Given the description of an element on the screen output the (x, y) to click on. 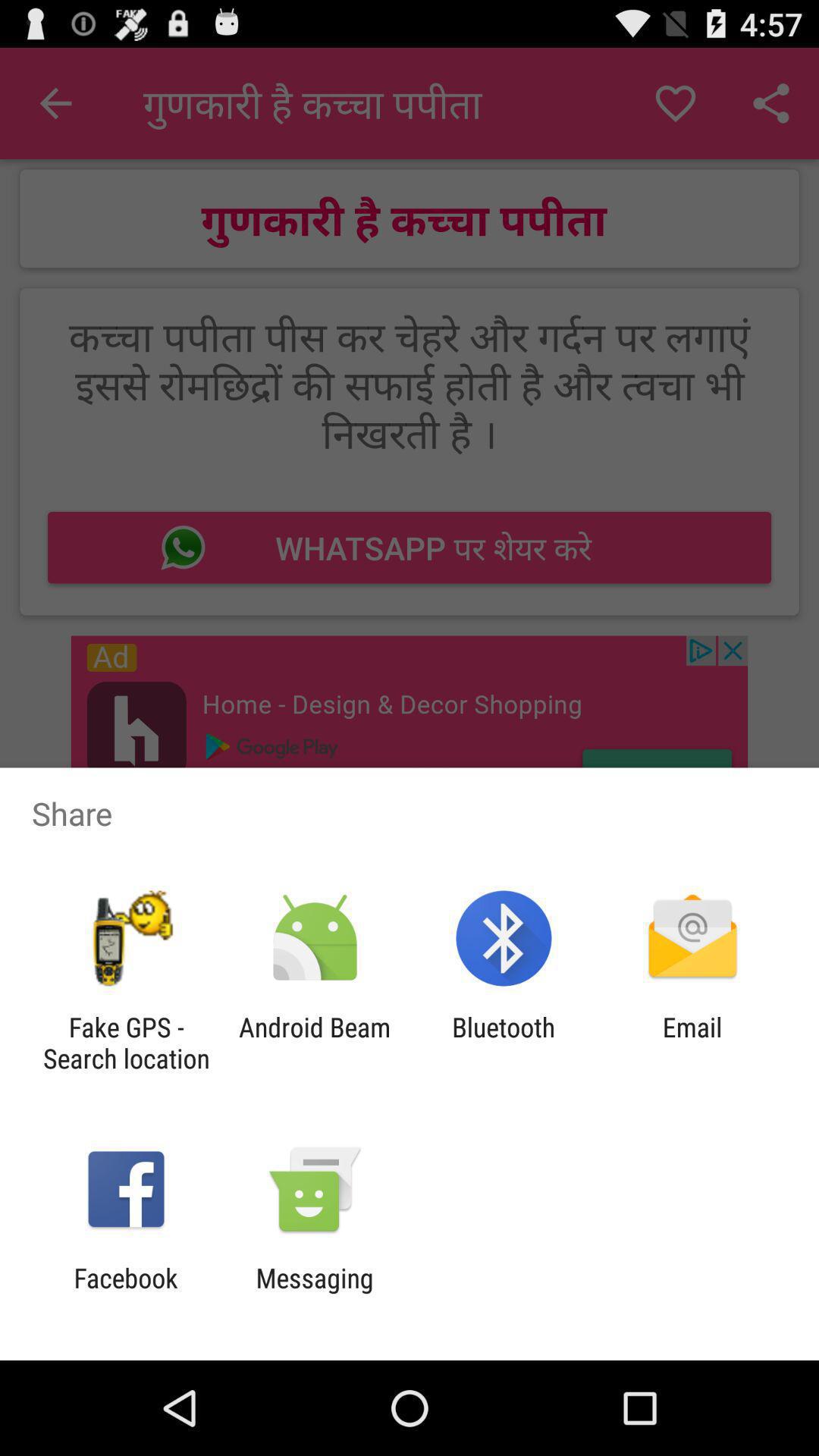
tap item to the left of messaging item (125, 1293)
